Given the description of an element on the screen output the (x, y) to click on. 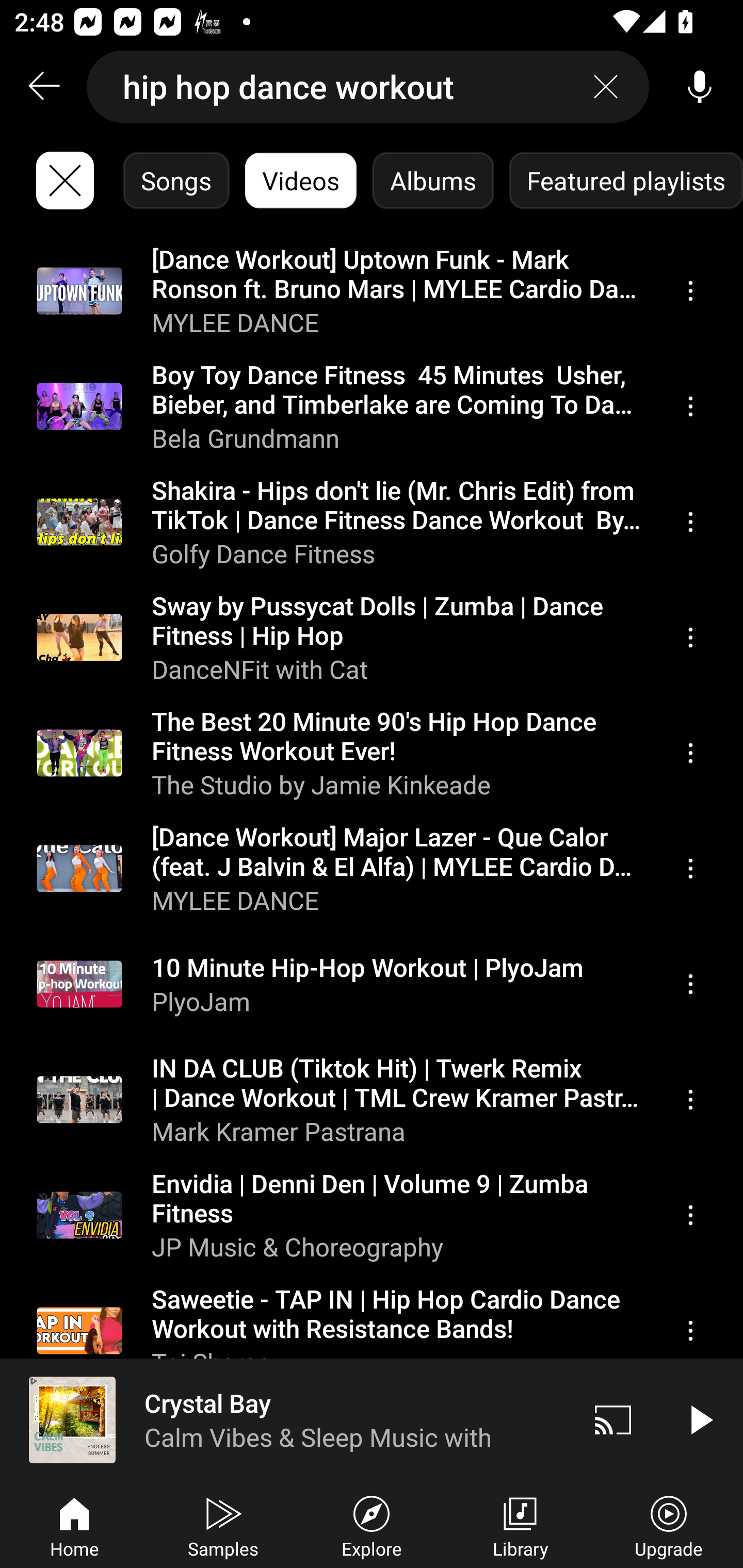
Search back (43, 86)
hip hop dance workout (367, 86)
Clear search (605, 86)
Voice search (699, 86)
Clear filters (64, 181)
Menu (690, 290)
Menu (690, 406)
Menu (690, 522)
Menu (690, 638)
Menu (690, 752)
Menu (690, 868)
Menu (690, 984)
Menu (690, 1099)
Menu (690, 1215)
Menu (690, 1331)
Cast. Disconnected (612, 1419)
Play video (699, 1419)
Home (74, 1524)
Samples (222, 1524)
Explore (371, 1524)
Library (519, 1524)
Upgrade (668, 1524)
